Given the description of an element on the screen output the (x, y) to click on. 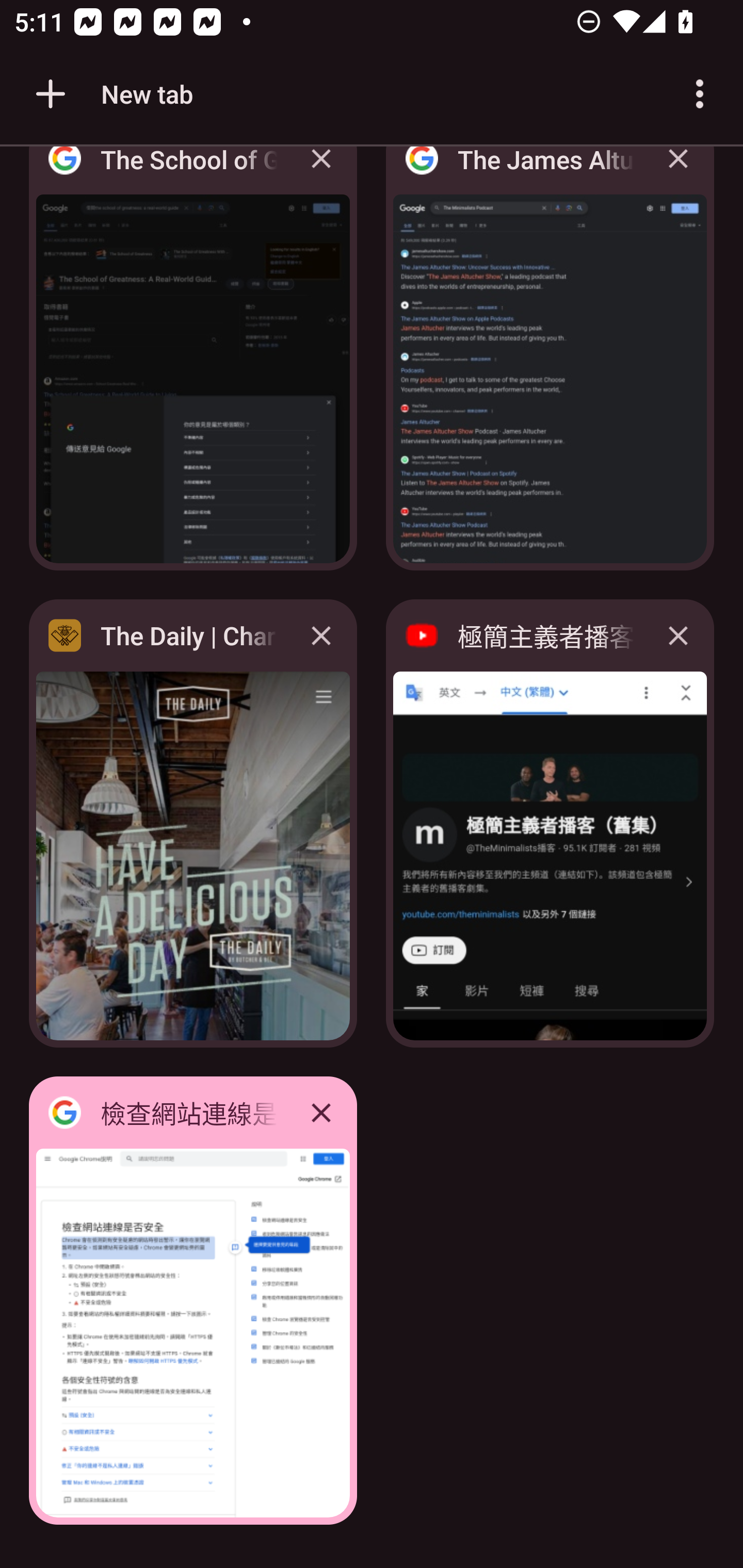
New tab (111, 93)
Customize and control Google Chrome (699, 93)
Close The School of Greatness - Google 搜尋 tab (320, 173)
Close The James Altucher Show - Google 搜尋 tab (677, 173)
Close The Daily | Charleston & Atlanta tab (320, 635)
Close 極簡主義者播客（舊劇集）- YouTube tab (677, 635)
Close 檢查網站連線是否安全 - Google Chrome說明 tab (320, 1112)
